Given the description of an element on the screen output the (x, y) to click on. 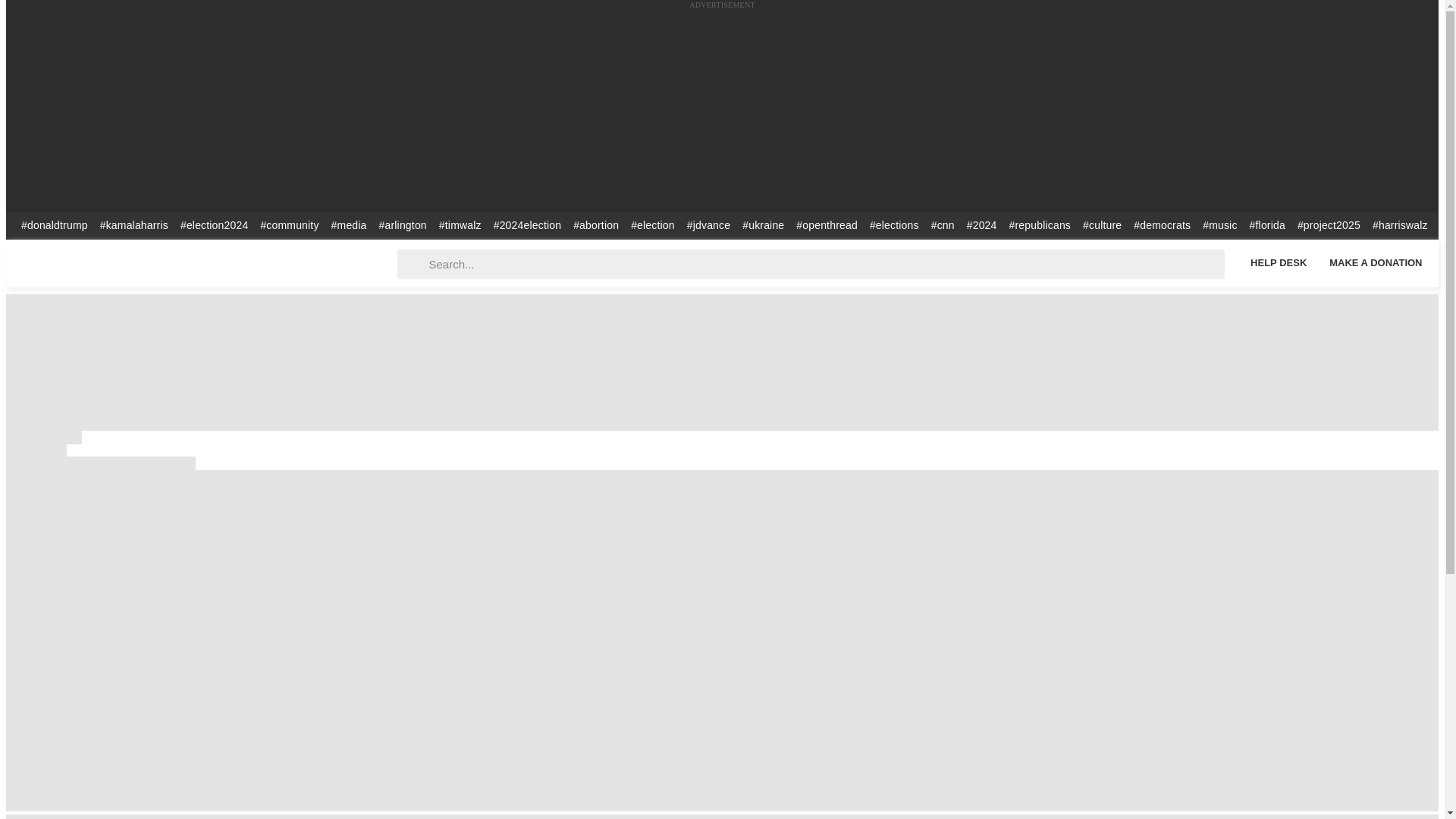
Help Desk (1277, 262)
Make a Donation (1375, 262)
MAKE A DONATION (1375, 262)
